Given the description of an element on the screen output the (x, y) to click on. 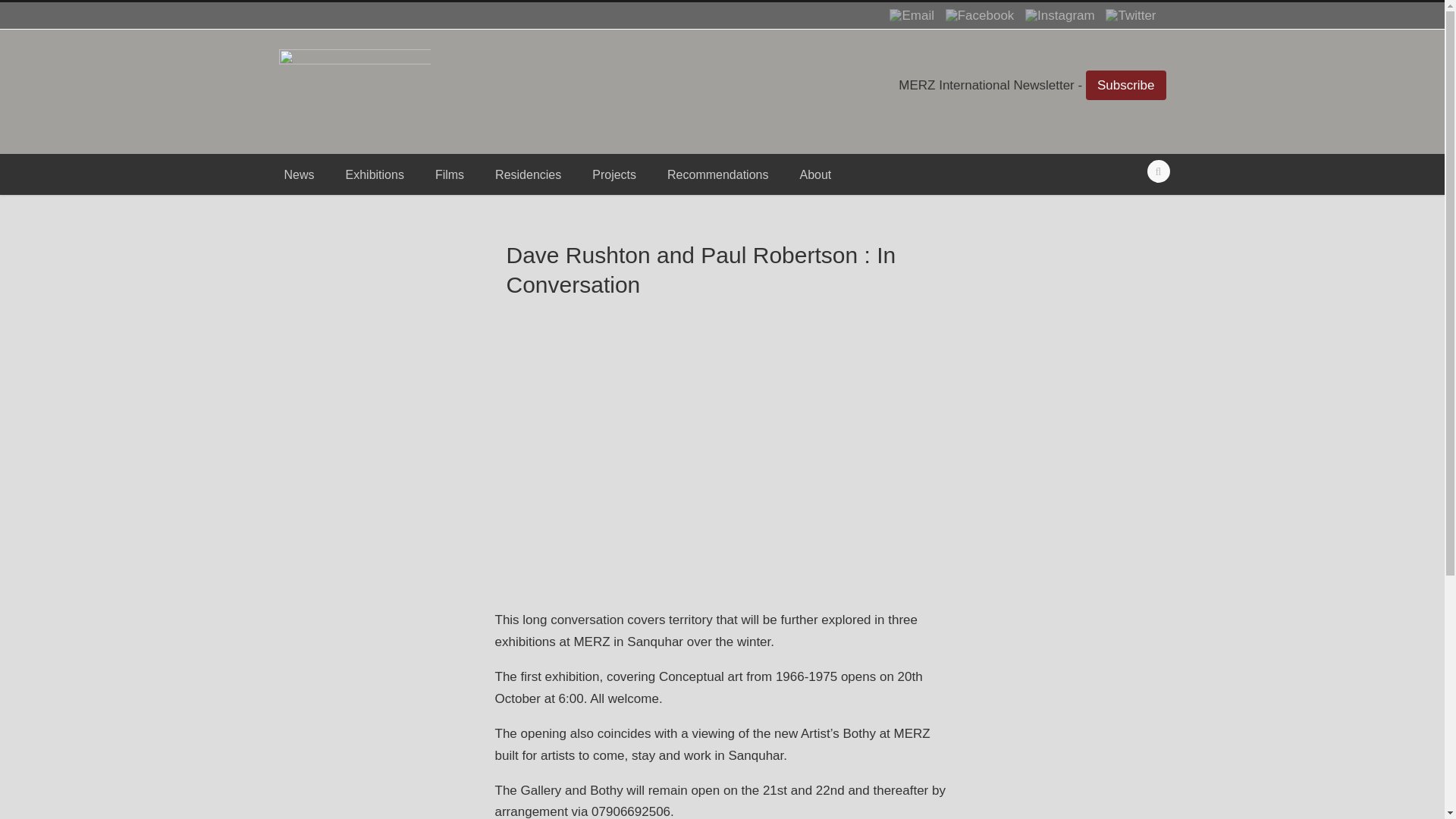
Films (444, 174)
Projects (609, 174)
Exhibitions (370, 174)
News (296, 174)
Residencies (523, 174)
Subscribe (1126, 84)
Instagram (1055, 14)
